Given the description of an element on the screen output the (x, y) to click on. 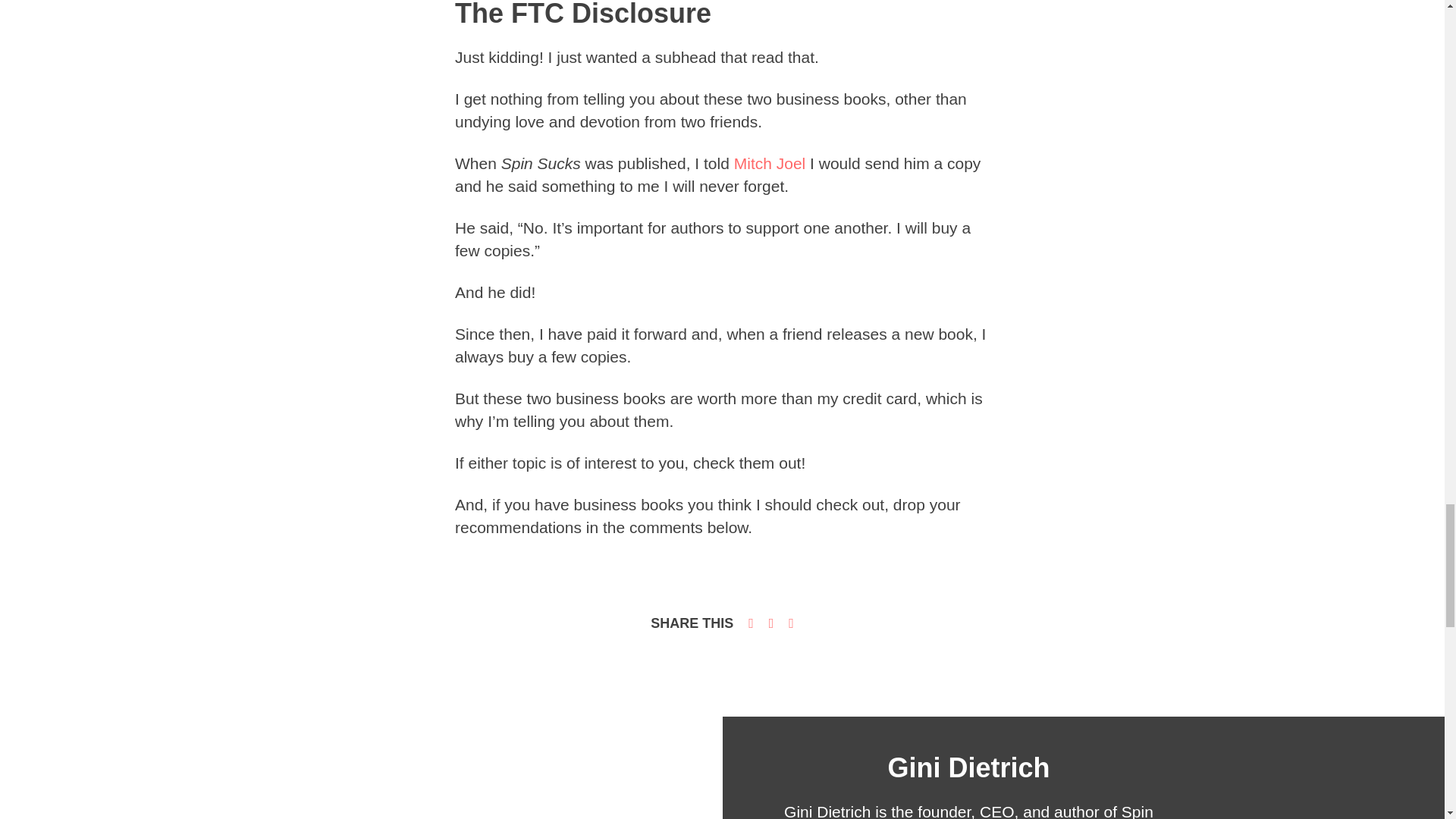
Spin Sucks (967, 811)
Mitch Joel (769, 162)
Gini Dietrich (827, 811)
